Given the description of an element on the screen output the (x, y) to click on. 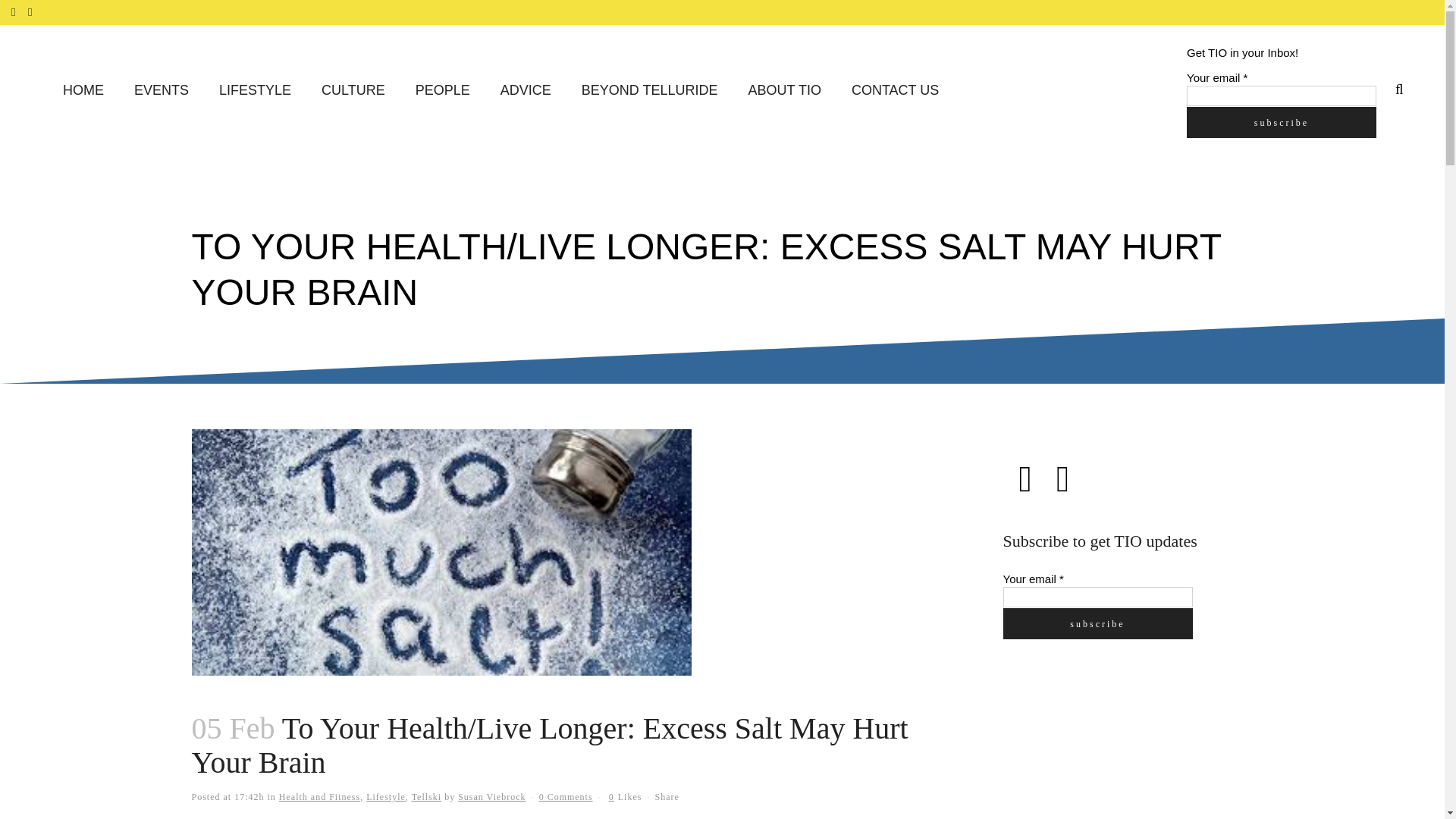
Your email (1097, 597)
Your email (1280, 95)
BEYOND TELLURIDE (649, 90)
Like this (625, 796)
CONTACT US (894, 90)
Subscribe (1280, 121)
Subscribe (1280, 121)
Subscribe (1097, 623)
